Given the description of an element on the screen output the (x, y) to click on. 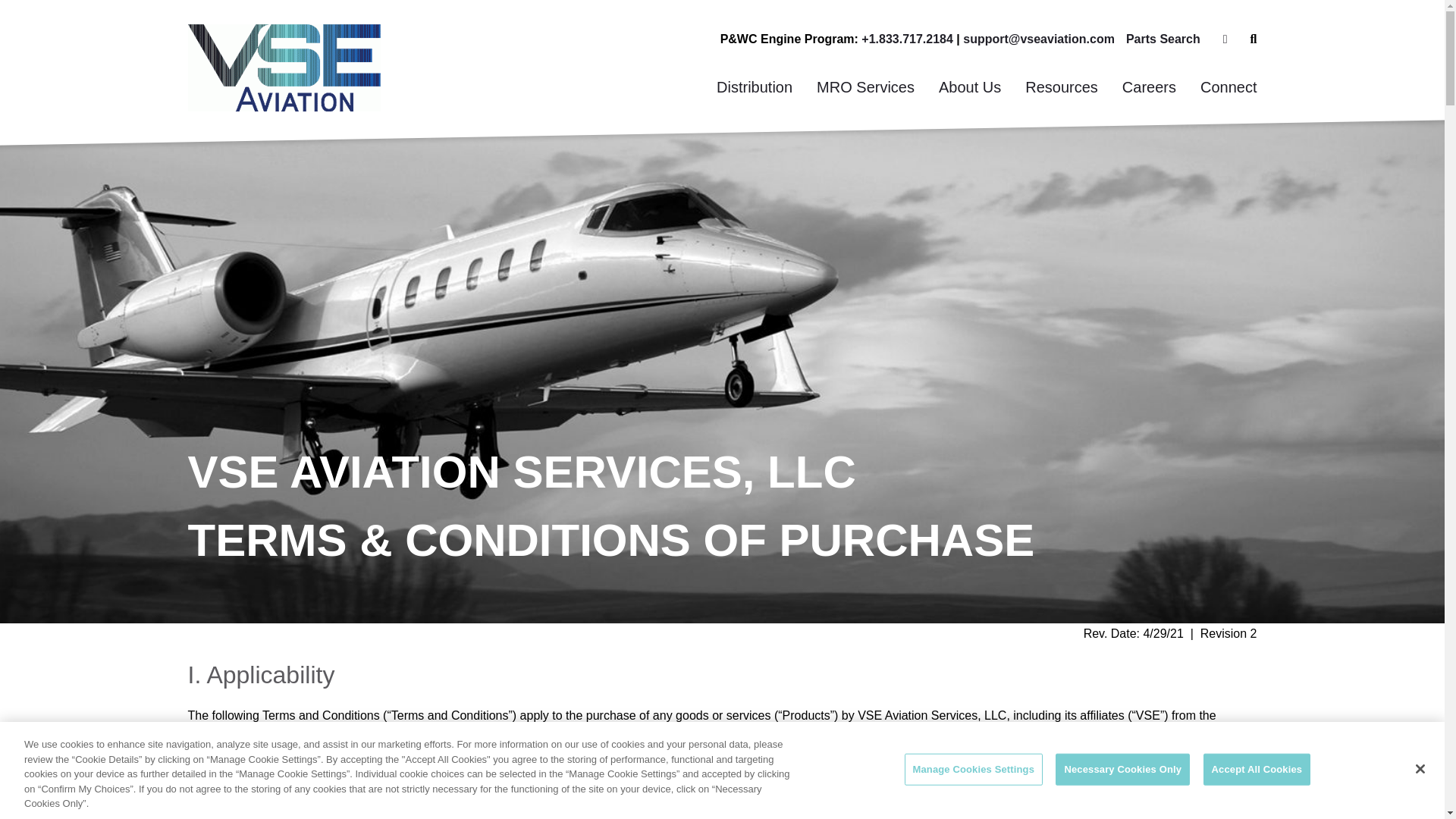
Careers (1148, 87)
MRO Services (865, 87)
Distribution (754, 87)
Resources (1061, 87)
Parts Search (1162, 38)
Connect (1228, 87)
About Us (969, 87)
